Given the description of an element on the screen output the (x, y) to click on. 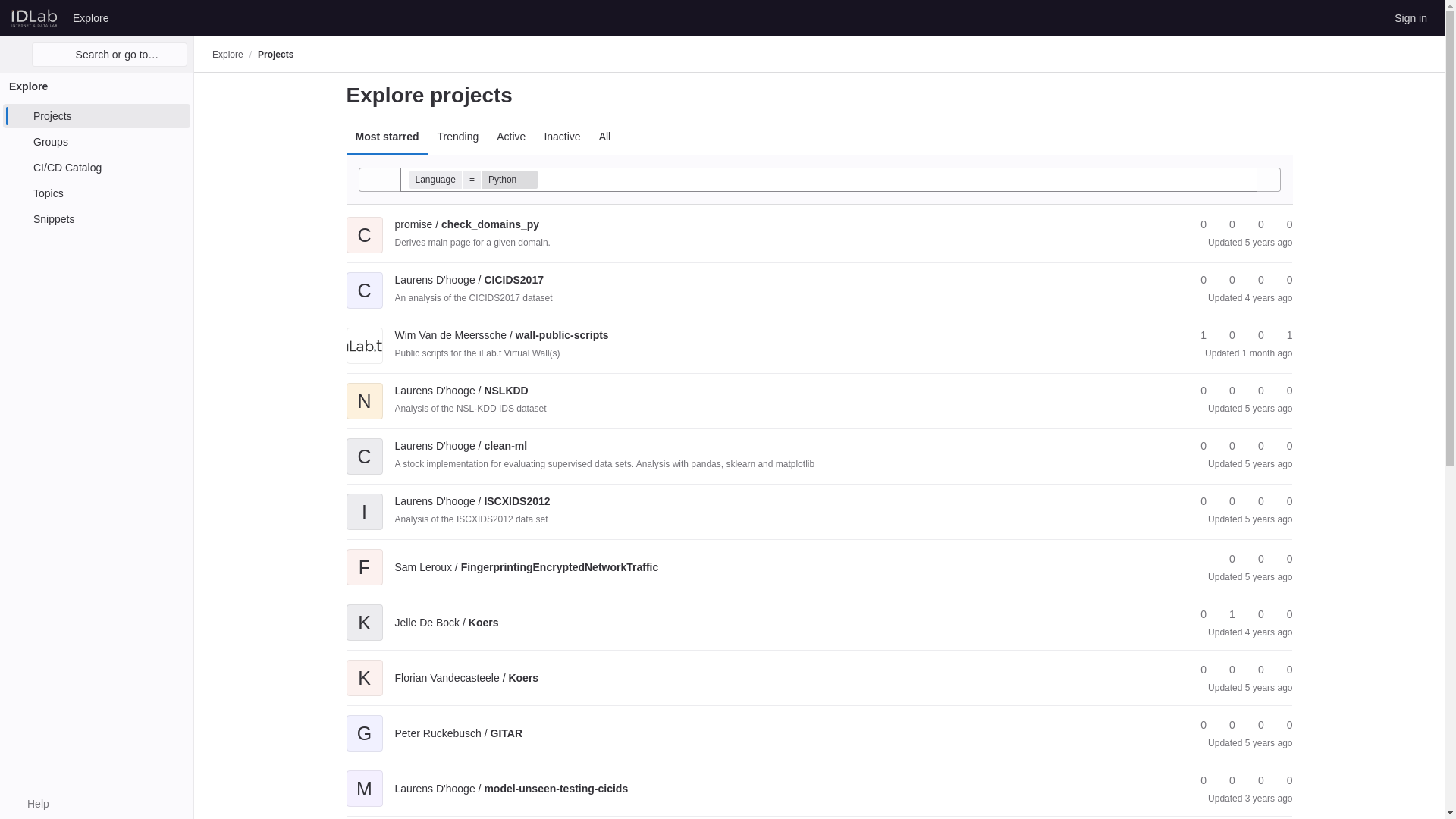
Active (510, 135)
Issues (1282, 279)
Explore (90, 17)
Toggle history (379, 179)
Most starred (387, 135)
Issues (1282, 224)
Merge requests (1253, 279)
Trending (457, 135)
0 (1224, 224)
0 (1196, 224)
